Given the description of an element on the screen output the (x, y) to click on. 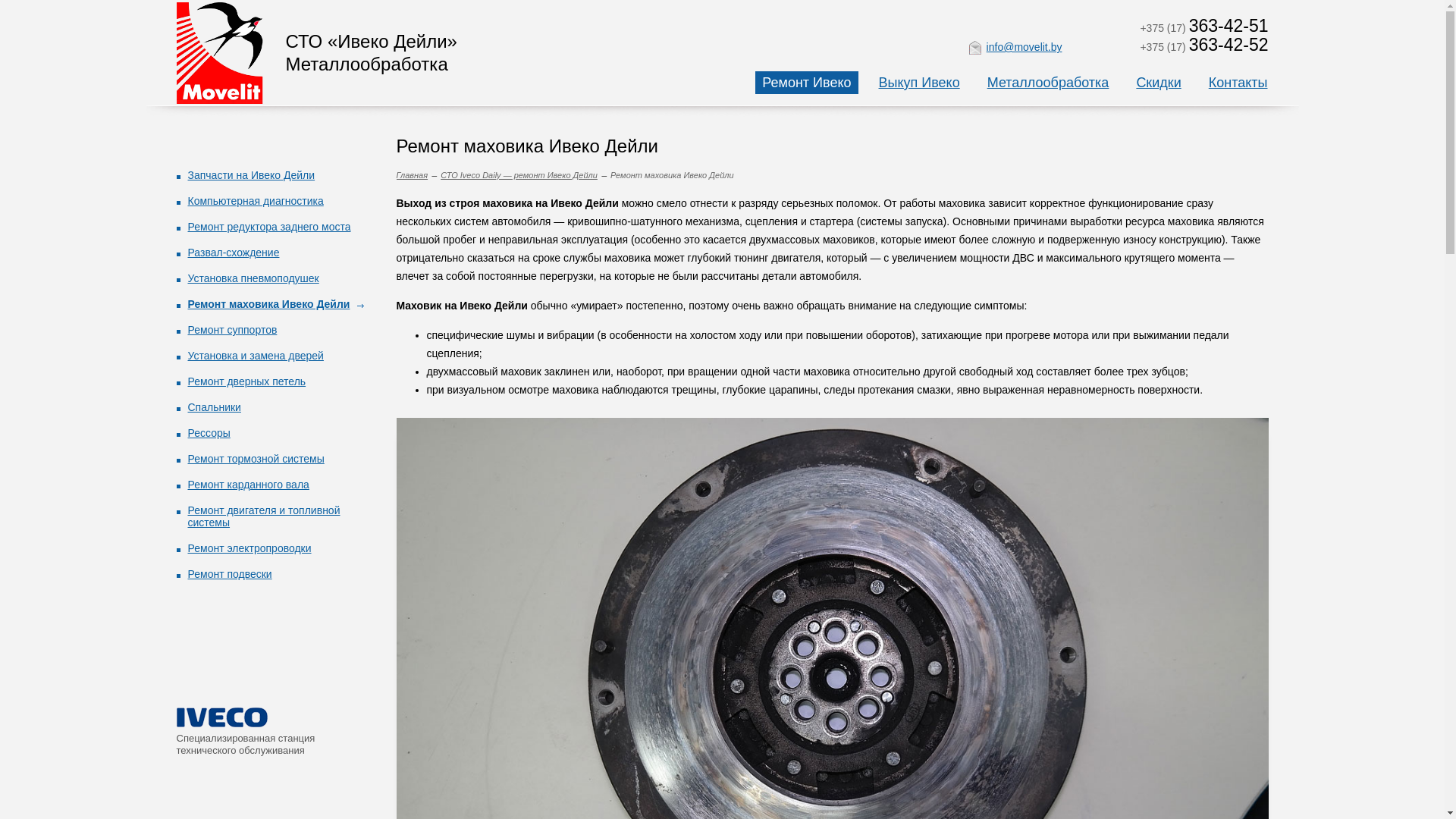
+375 (17) 363-42-52 Element type: text (1203, 46)
info@movelit.by Element type: text (1015, 47)
+375 (17) 363-42-51 Element type: text (1203, 27)
